Given the description of an element on the screen output the (x, y) to click on. 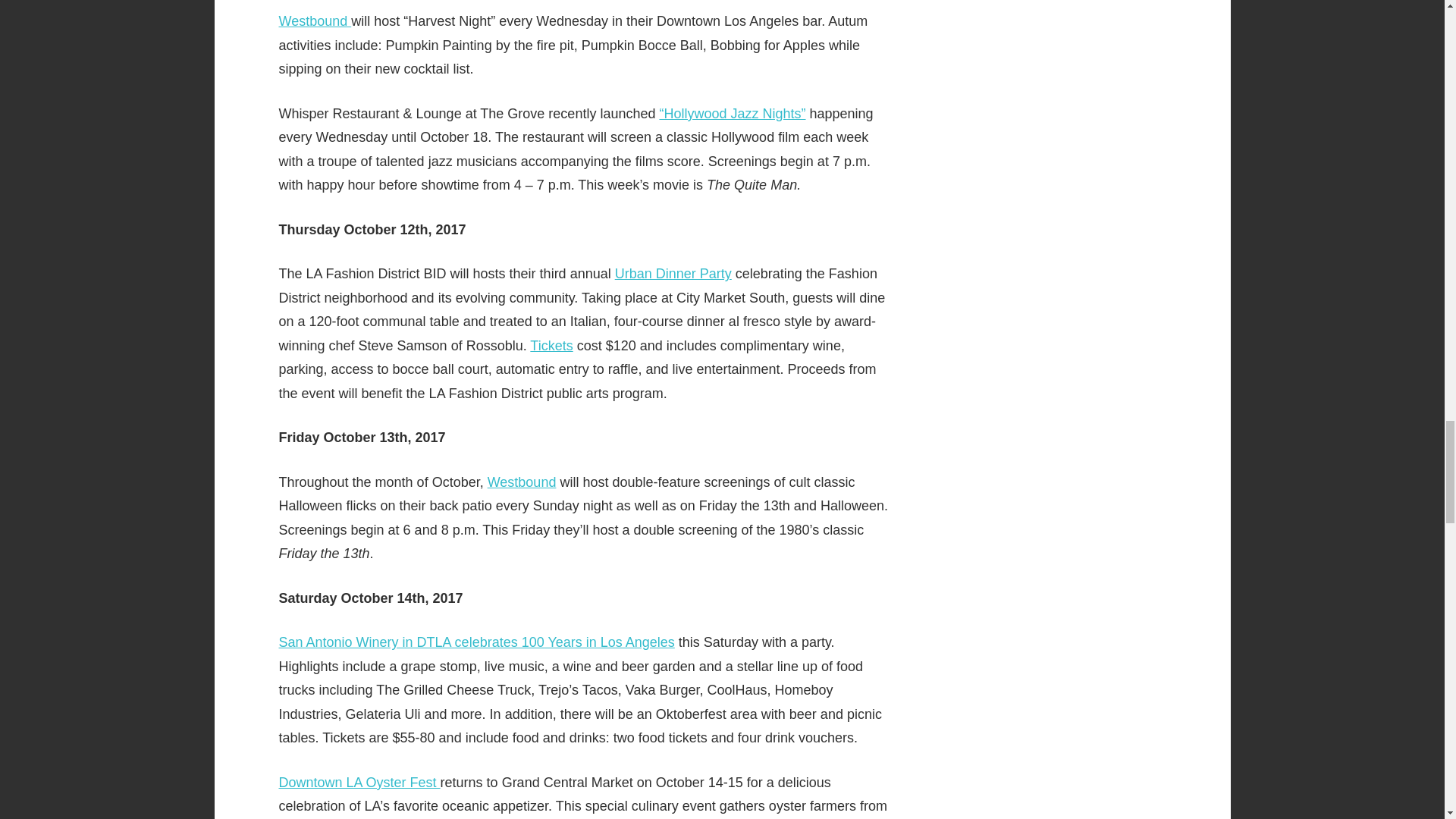
Tickets (550, 345)
Urban Dinner Party (673, 273)
Downtown LA Oyster Fest (360, 782)
Westbound (521, 482)
Westbound (315, 20)
